Given the description of an element on the screen output the (x, y) to click on. 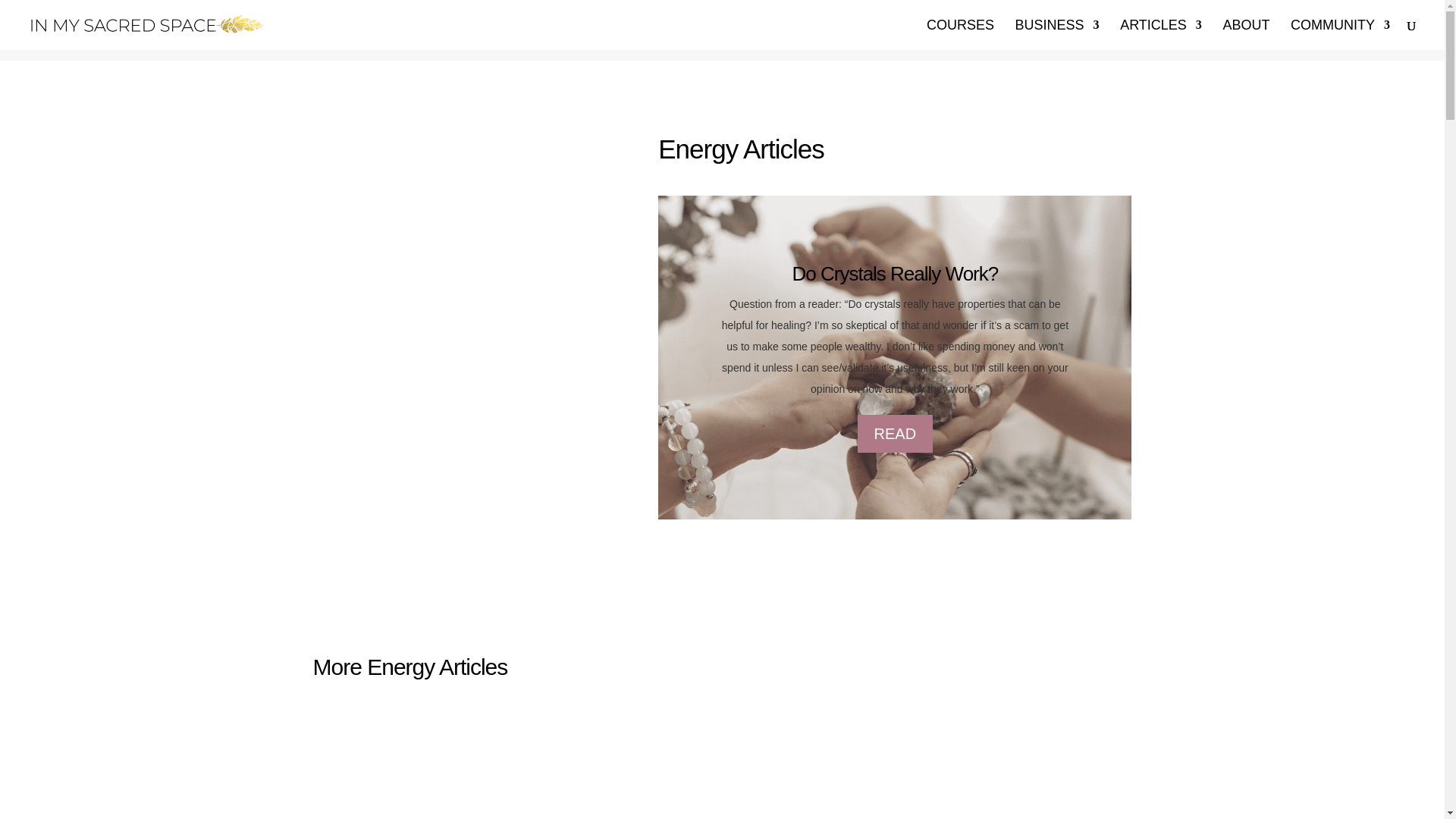
ARTICLES (1160, 34)
READ (895, 433)
BUSINESS (1056, 34)
COMMUNITY (1340, 34)
ABOUT (1246, 34)
COURSES (960, 34)
Do Crystals Really Work? (895, 273)
